Given the description of an element on the screen output the (x, y) to click on. 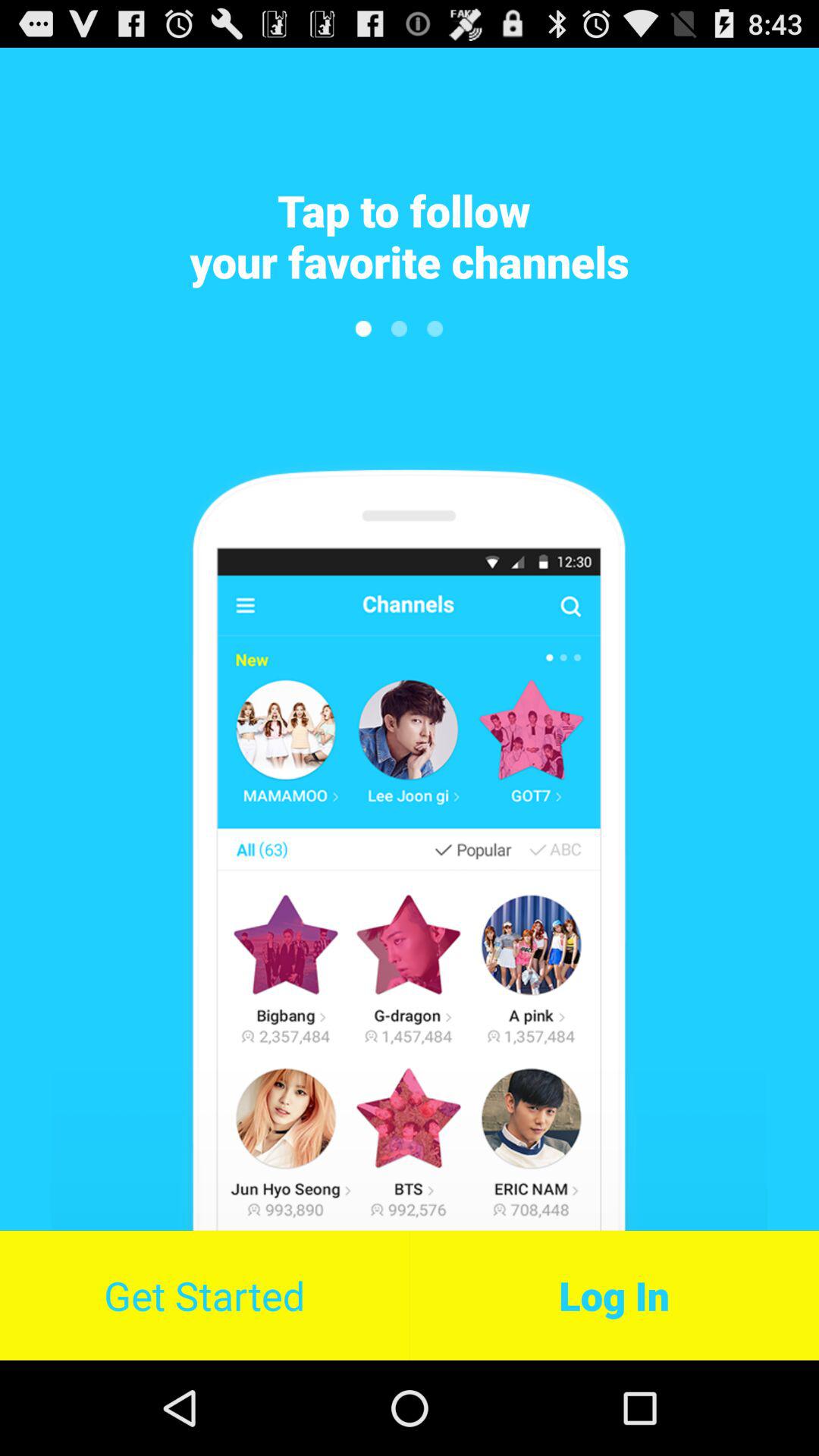
open the icon next to get started item (614, 1295)
